Given the description of an element on the screen output the (x, y) to click on. 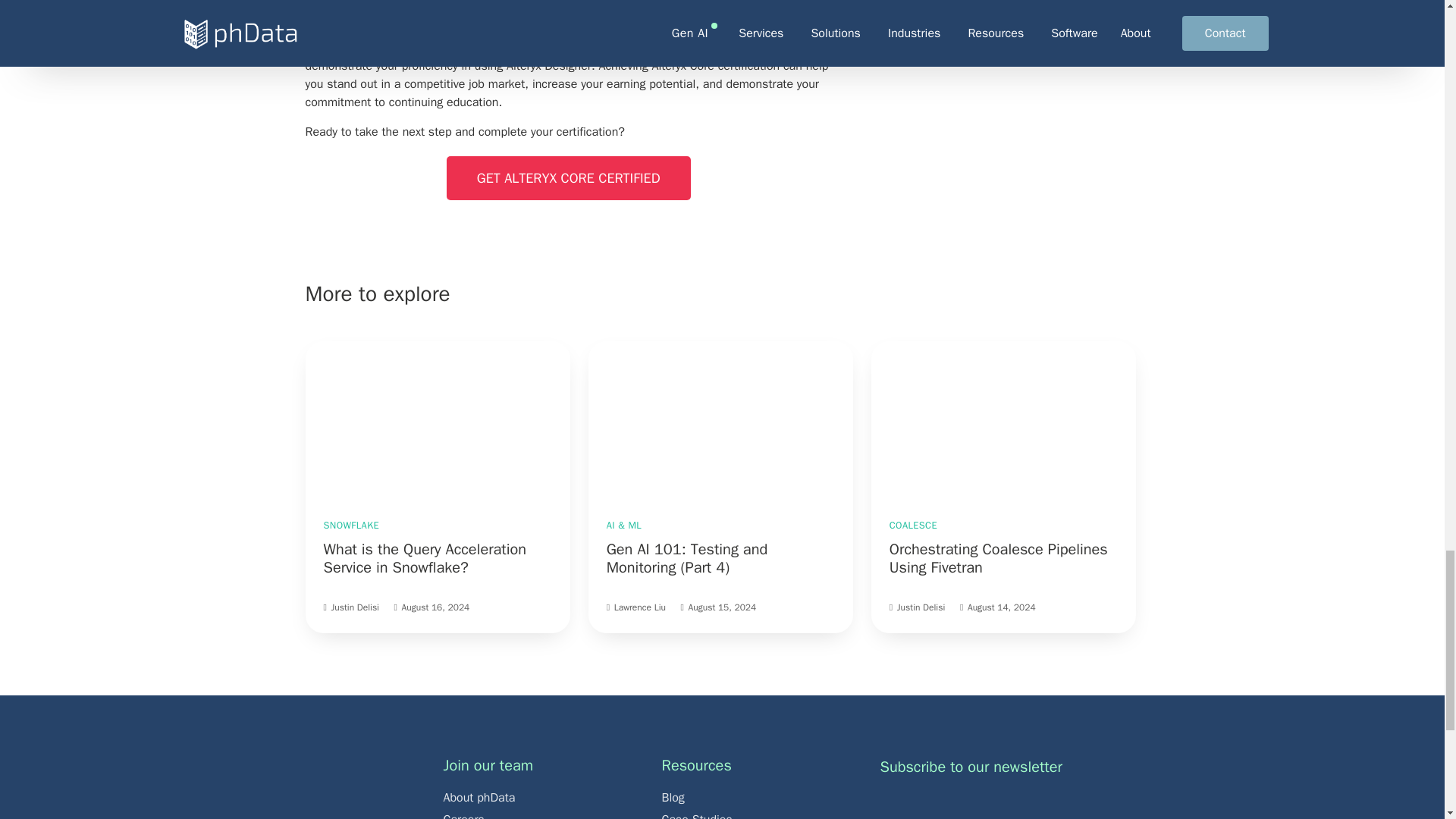
Posts by Justin Delisi (920, 607)
Posts by Lawrence Liu (639, 607)
Posts by Justin Delisi (354, 607)
